Given the description of an element on the screen output the (x, y) to click on. 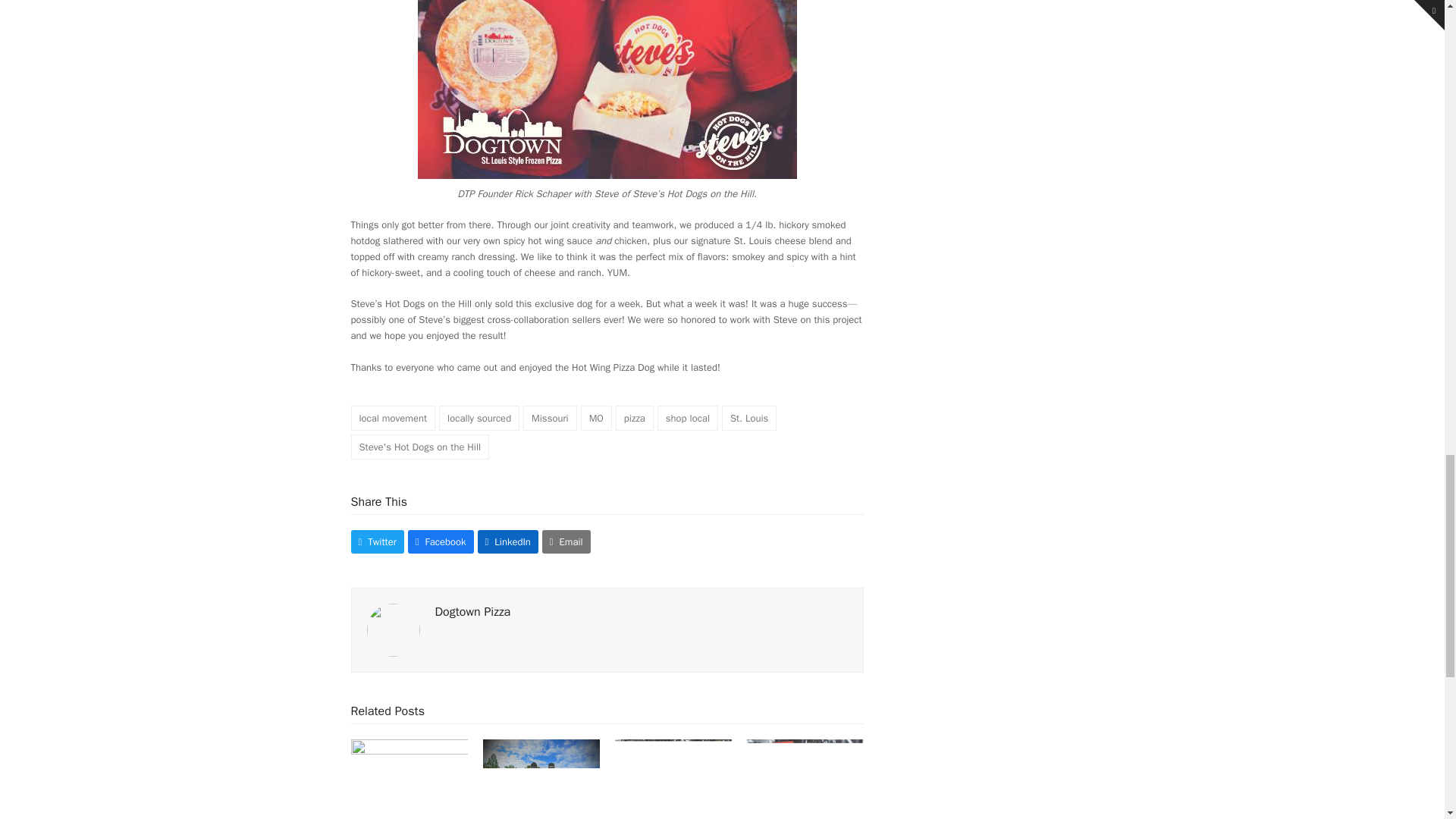
MO (595, 417)
pizza (634, 417)
St. Louis (749, 417)
Missouri (549, 417)
Visit Author Page (393, 628)
shop local (687, 417)
Visit Author Page (473, 611)
The History of Dogtown, St. Louis (673, 781)
